Given the description of an element on the screen output the (x, y) to click on. 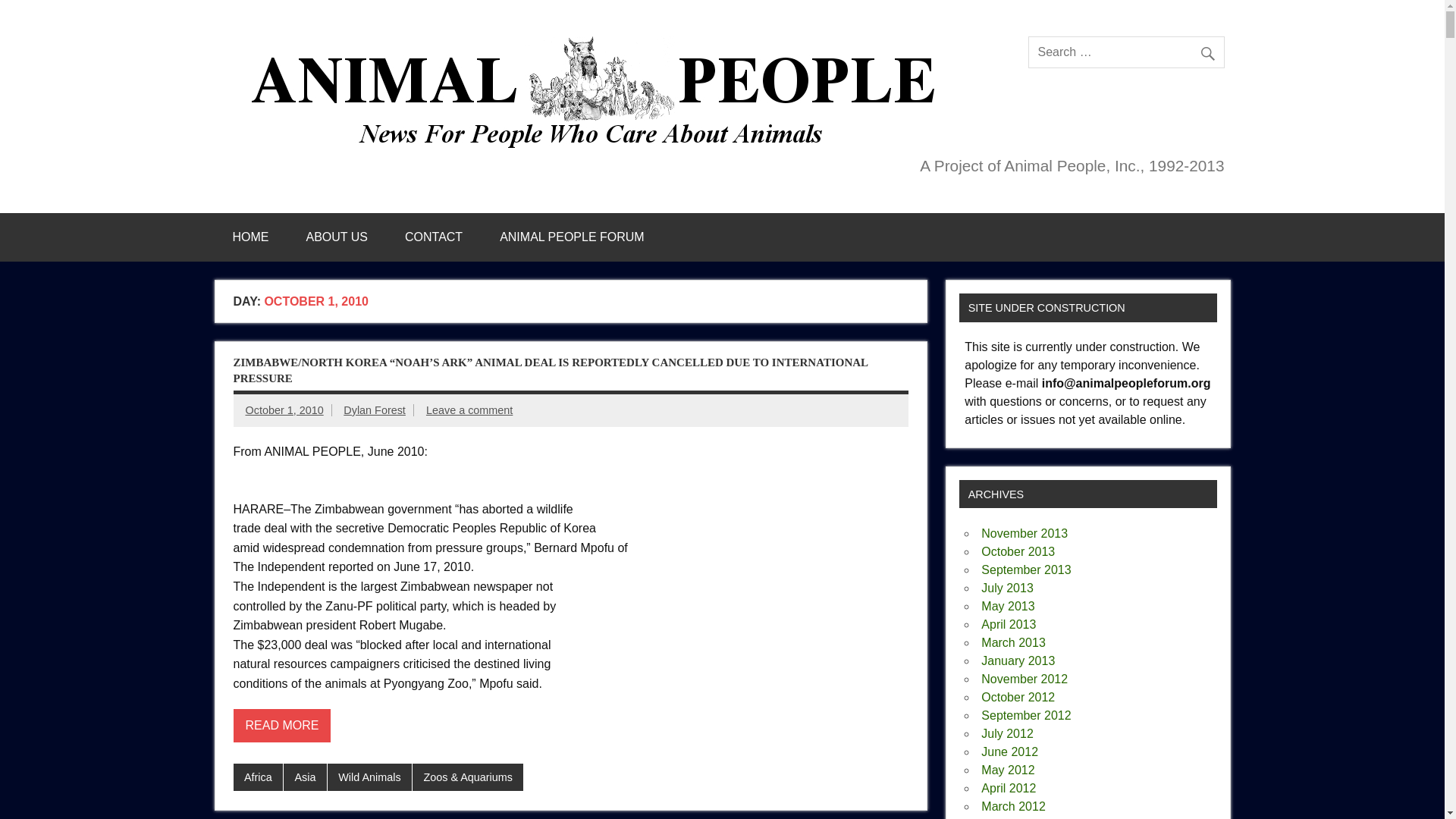
ANIMAL PEOPLE NEWS (598, 42)
11:45 pm (284, 410)
Dylan Forest (374, 410)
Leave a comment (469, 410)
READ MORE (281, 725)
Wild Animals (369, 777)
Asia (304, 777)
ANIMAL PEOPLE FORUM (571, 236)
Africa (257, 777)
HOME (250, 236)
View all posts by Dylan Forest (374, 410)
ABOUT US (337, 236)
October 1, 2010 (284, 410)
CONTACT (433, 236)
